Given the description of an element on the screen output the (x, y) to click on. 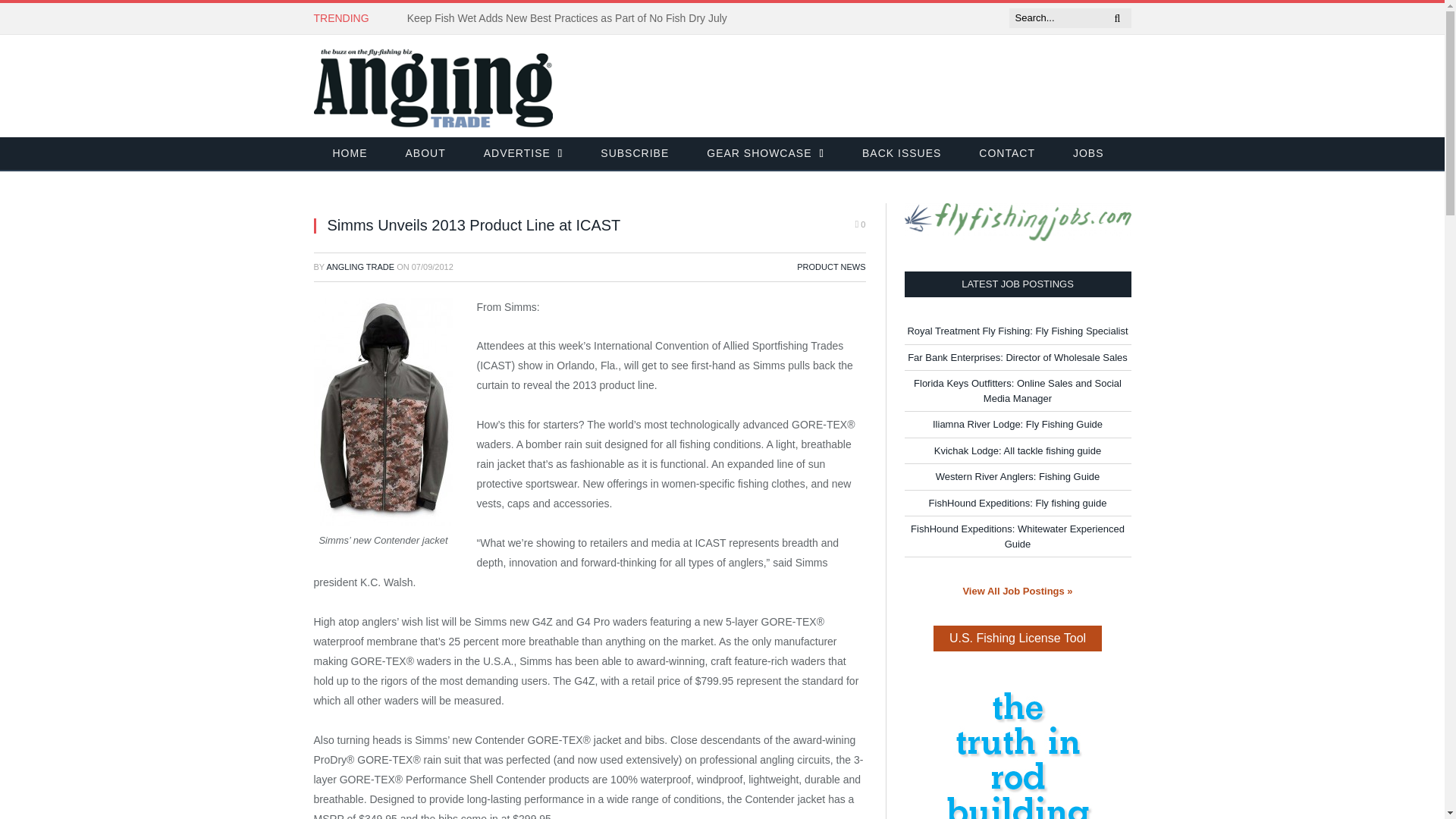
2012-07-09 (432, 266)
JOBS (1088, 154)
ANGLING TRADE (360, 266)
ADVERTISE (523, 154)
SUBSCRIBE (633, 154)
ABOUT (425, 154)
CONTACT (1006, 154)
Posts by Angling Trade (360, 266)
HOME (350, 154)
PRODUCT NEWS (830, 266)
GEAR SHOWCASE (765, 154)
BACK ISSUES (901, 154)
Angling Trade (433, 85)
